Given the description of an element on the screen output the (x, y) to click on. 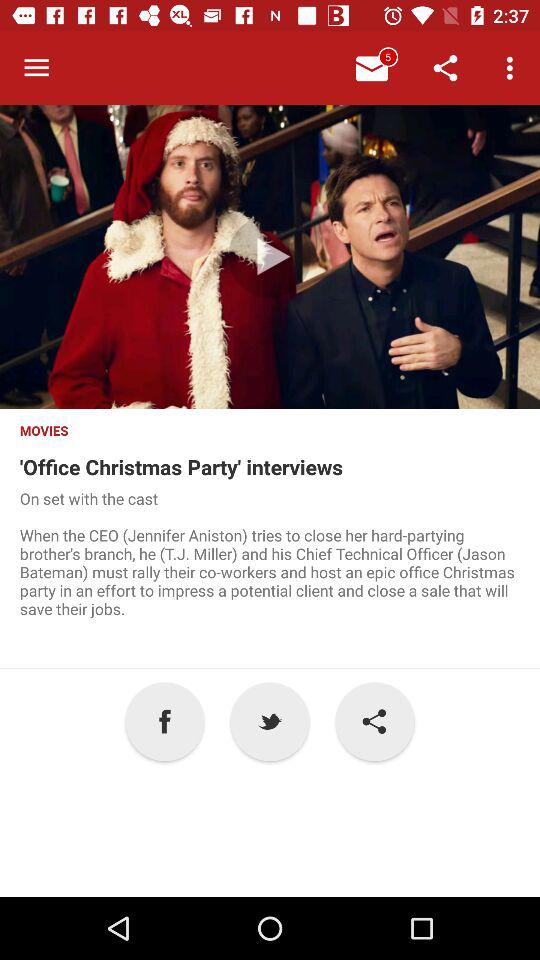
press the item to the right of the p icon (374, 721)
